Given the description of an element on the screen output the (x, y) to click on. 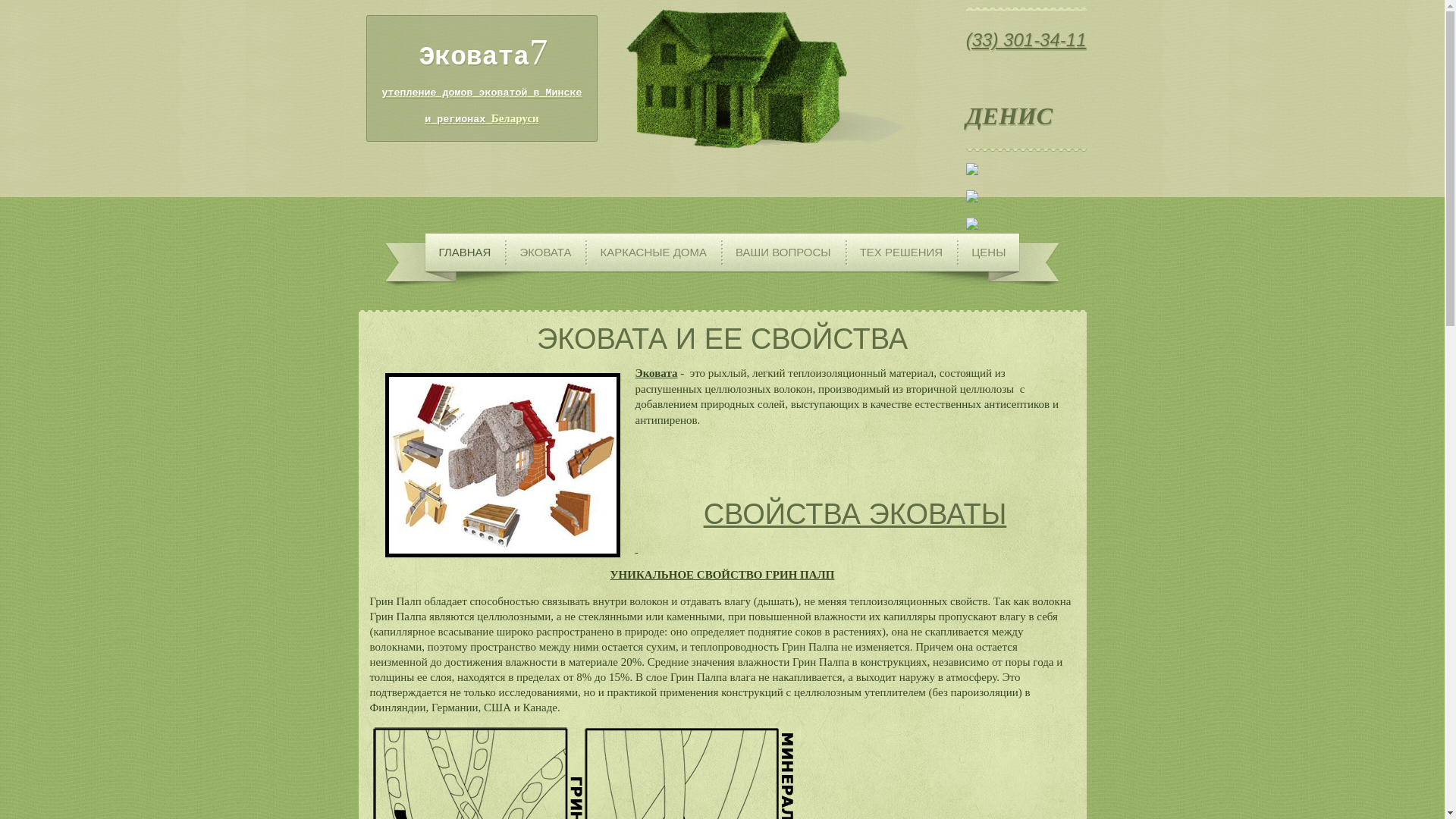
  Element type: text (721, 83)
